Given the description of an element on the screen output the (x, y) to click on. 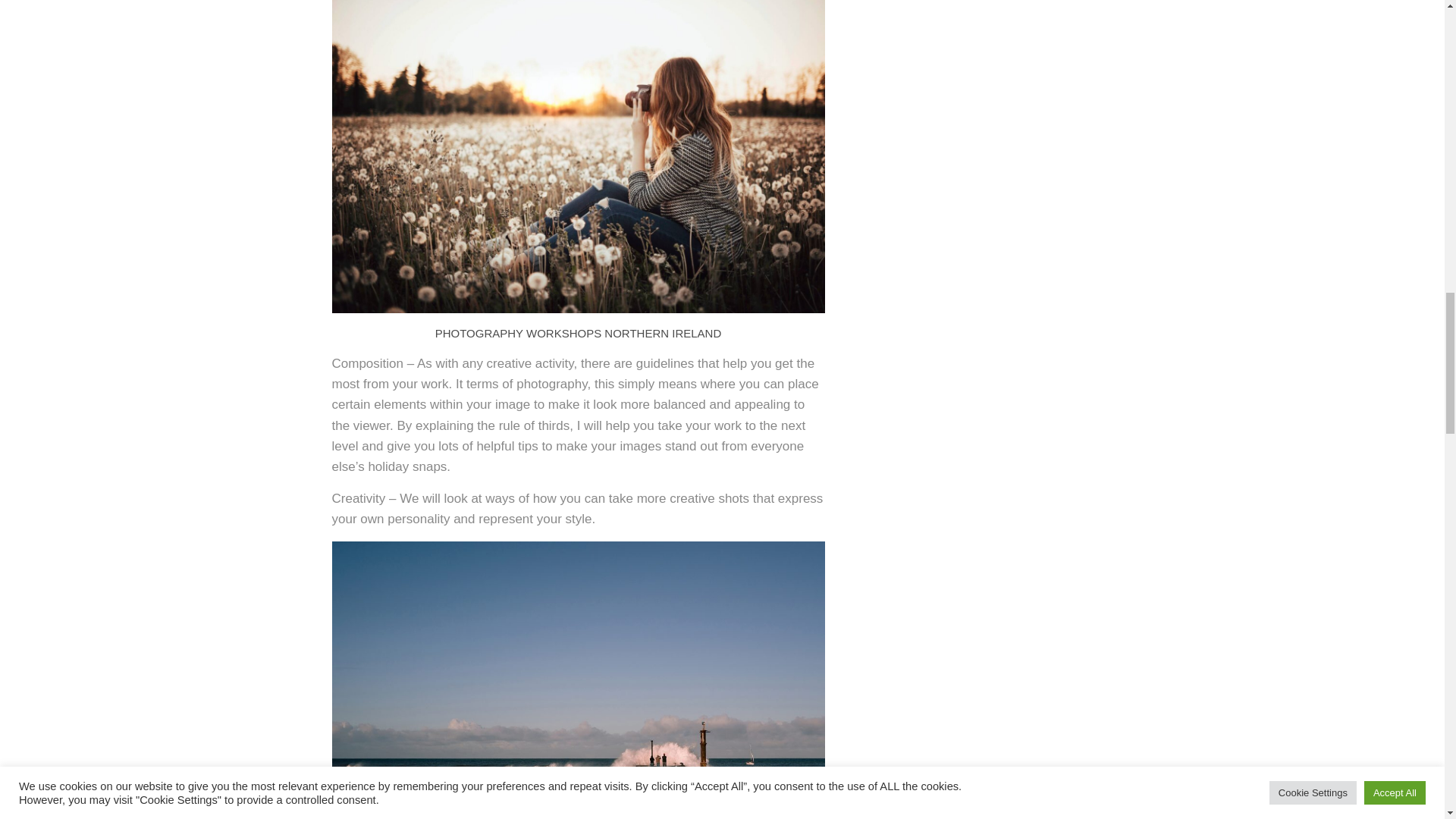
PHOTOGRAPHY WORKSHOPS NORTHERN IRELAND (578, 332)
